Given the description of an element on the screen output the (x, y) to click on. 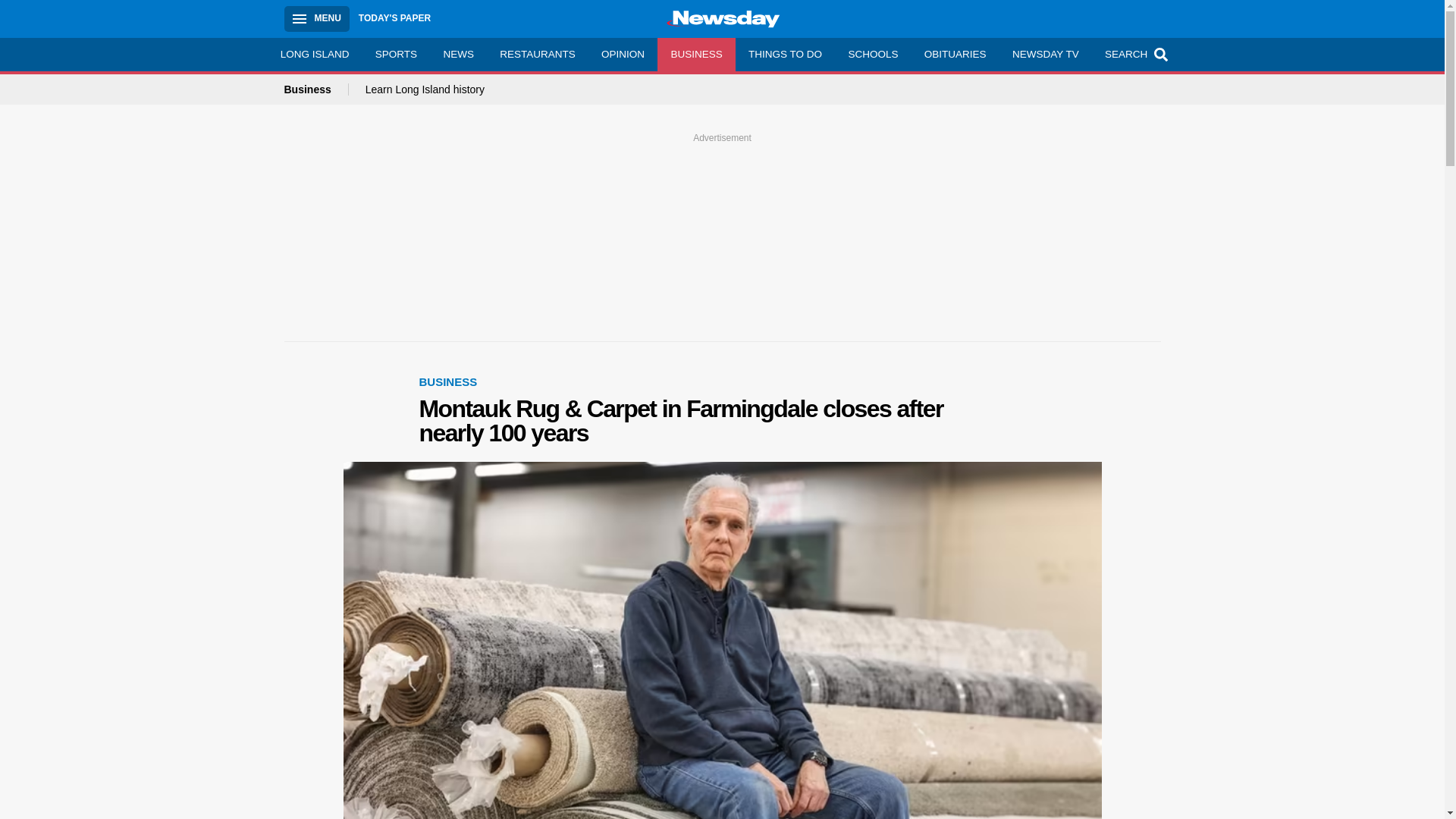
SPORTS (396, 54)
OBITUARIES (954, 54)
TODAY'S PAPER (394, 18)
LONG ISLAND (313, 54)
OPINION (623, 54)
RESTAURANTS (537, 54)
NEWS (457, 54)
MENU (316, 18)
SCHOOLS (872, 54)
Learn Long Island history (424, 89)
NEWSDAY TV (1045, 54)
BUSINESS (696, 54)
THINGS TO DO (784, 54)
BUSINESS (448, 381)
SEARCH (1134, 54)
